Given the description of an element on the screen output the (x, y) to click on. 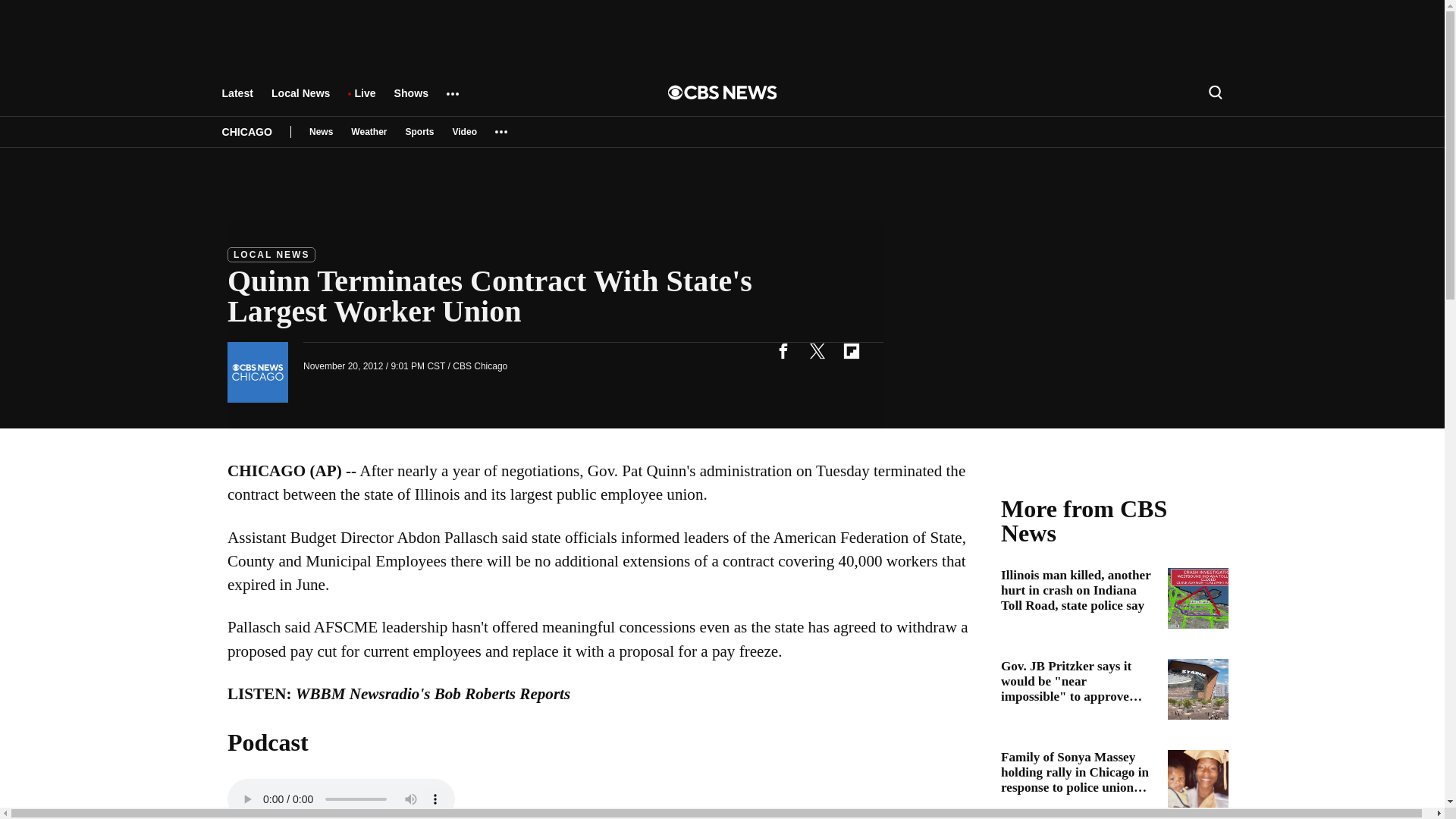
flipboard (850, 350)
facebook (782, 350)
Latest (236, 100)
twitter (816, 350)
Local News (300, 100)
